Given the description of an element on the screen output the (x, y) to click on. 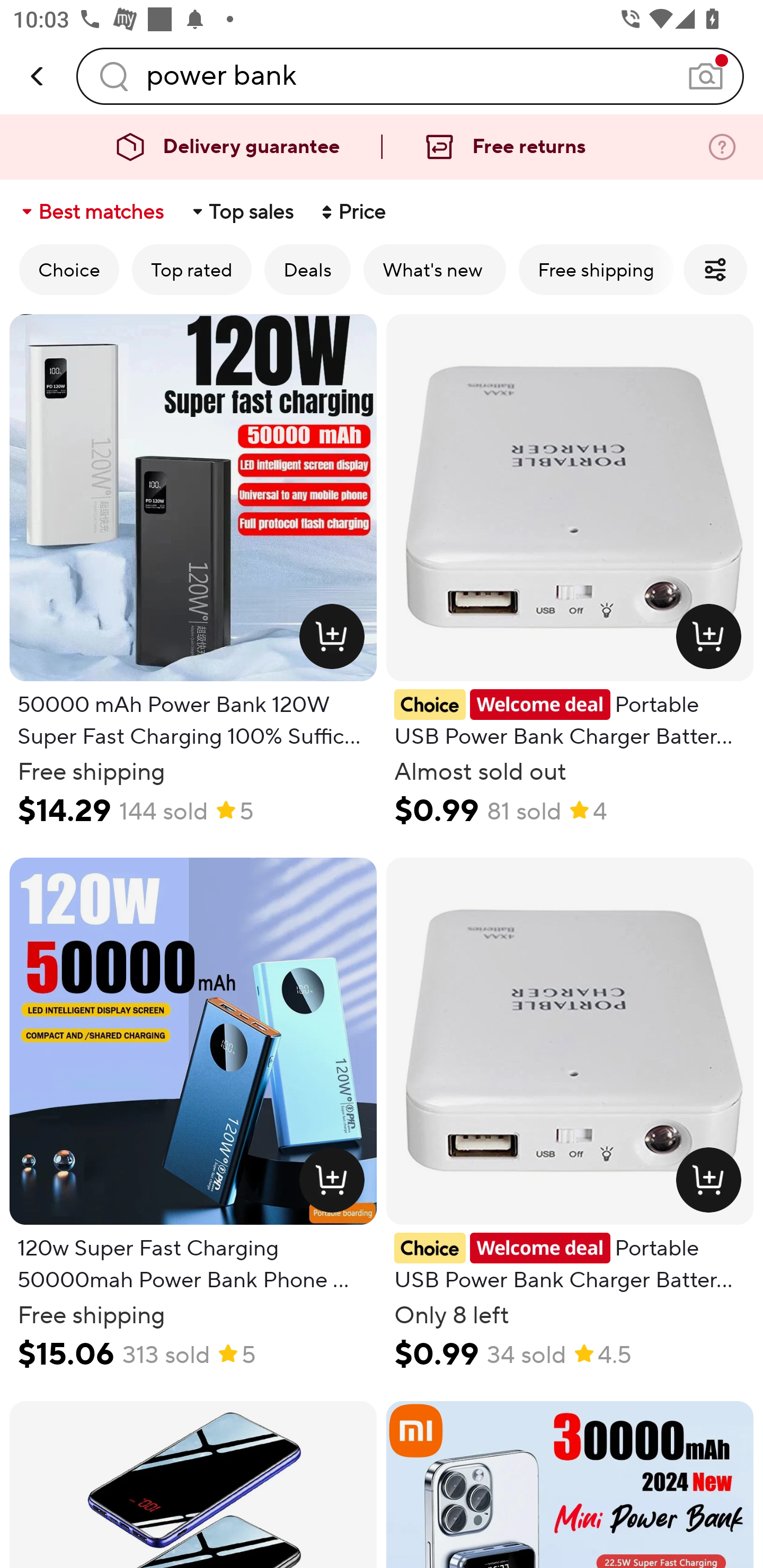
back (38, 75)
power bank Search query (409, 76)
power bank Search query (409, 76)
Best matches (91, 212)
Top sales (241, 212)
Price (352, 212)
Choice (69, 269)
Top rated (191, 269)
Deals (307, 269)
What's new  (434, 269)
Free shipping (595, 269)
